Given the description of an element on the screen output the (x, y) to click on. 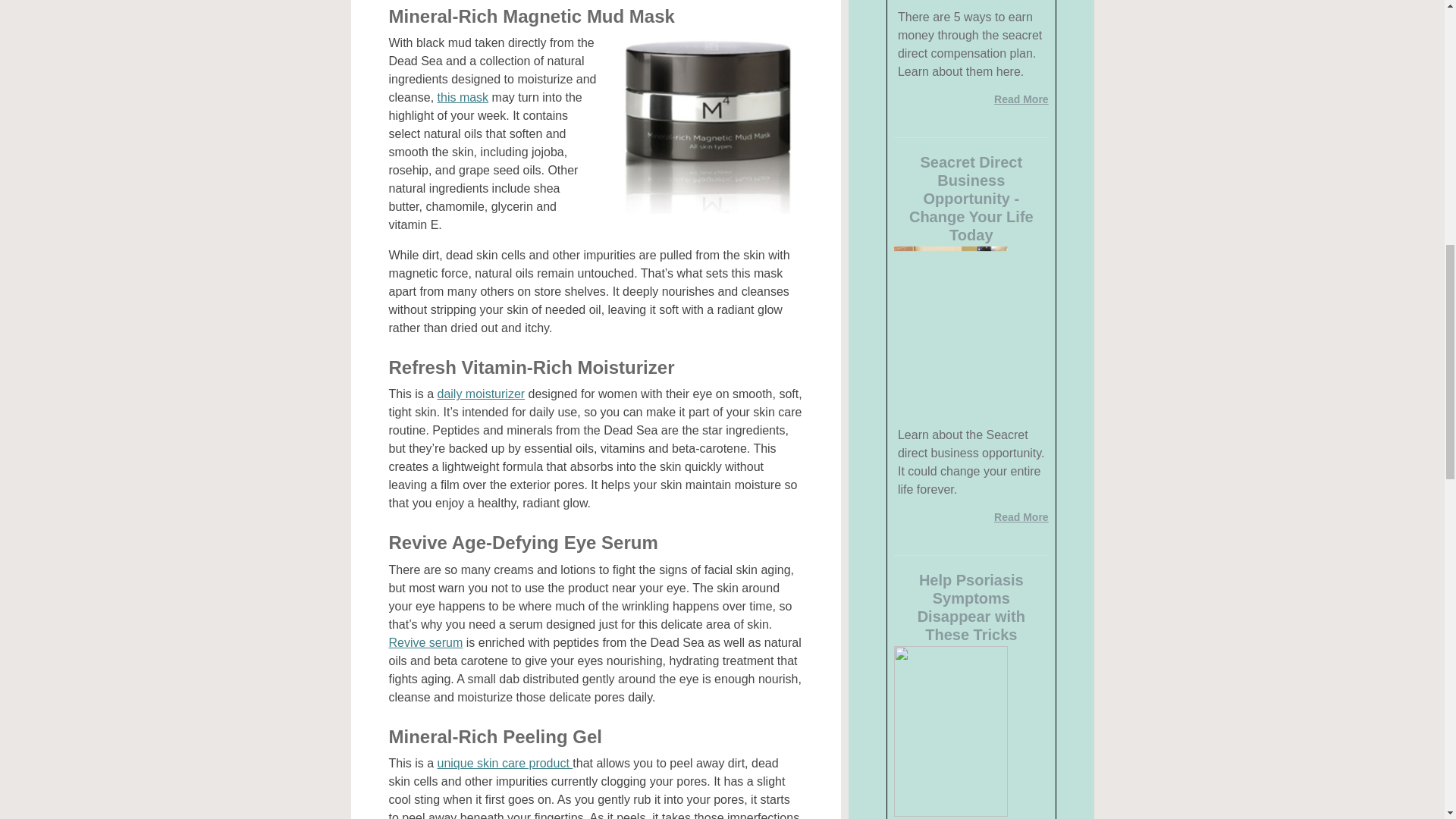
Seacret Direct Business Opportunity - Change Your Life Today (970, 198)
daily moisturizer (481, 393)
unique skin care product (505, 762)
this mask (463, 97)
Revive serum (425, 642)
Read More (1021, 517)
Help Psoriasis Symptoms Disappear with These Tricks (971, 606)
Read More (1021, 99)
Mud Mask (705, 122)
